Given the description of an element on the screen output the (x, y) to click on. 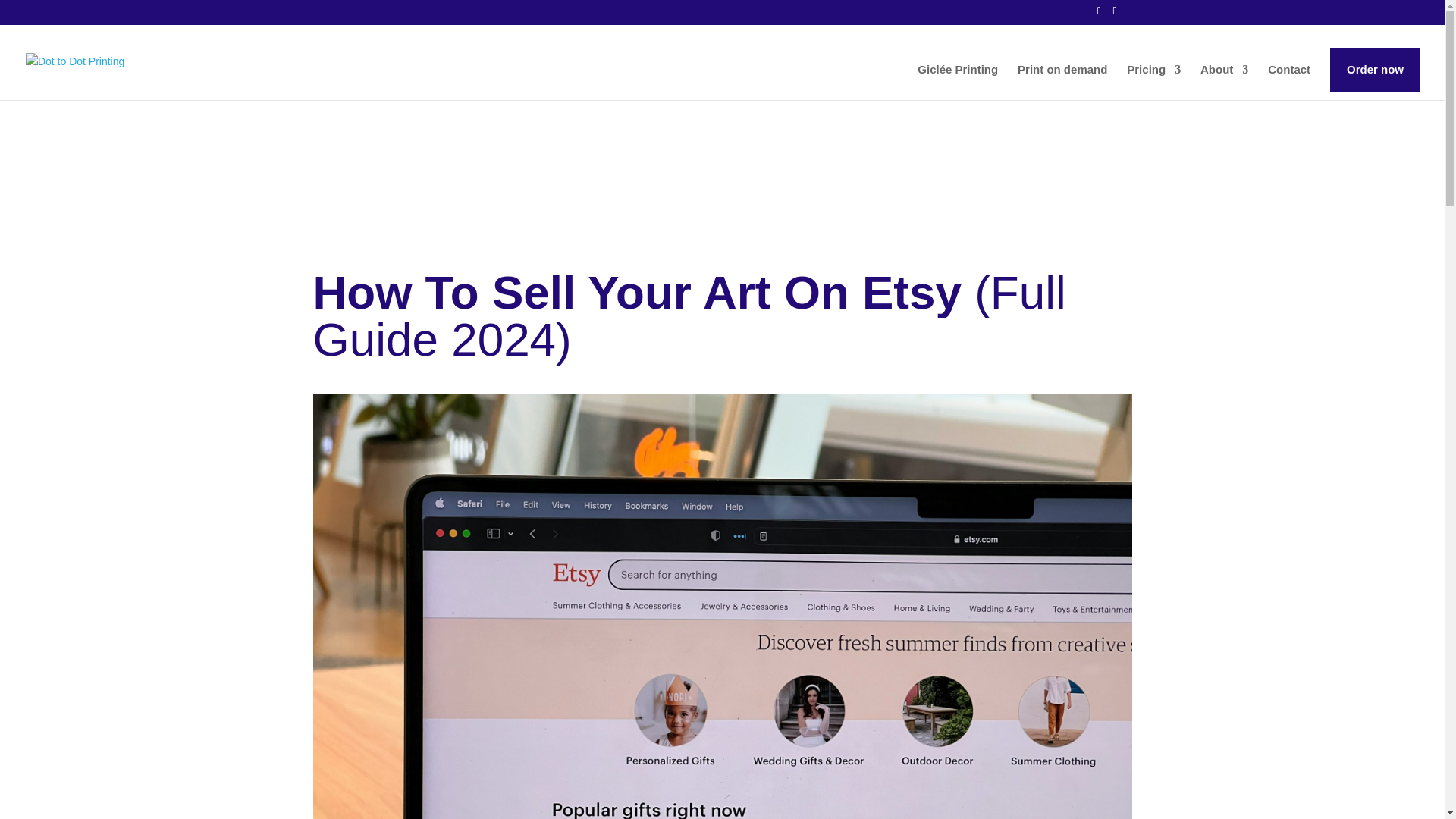
About (1223, 81)
Print on demand (1061, 81)
Order now (1375, 69)
Contact (1289, 81)
Pricing (1153, 81)
